Given the description of an element on the screen output the (x, y) to click on. 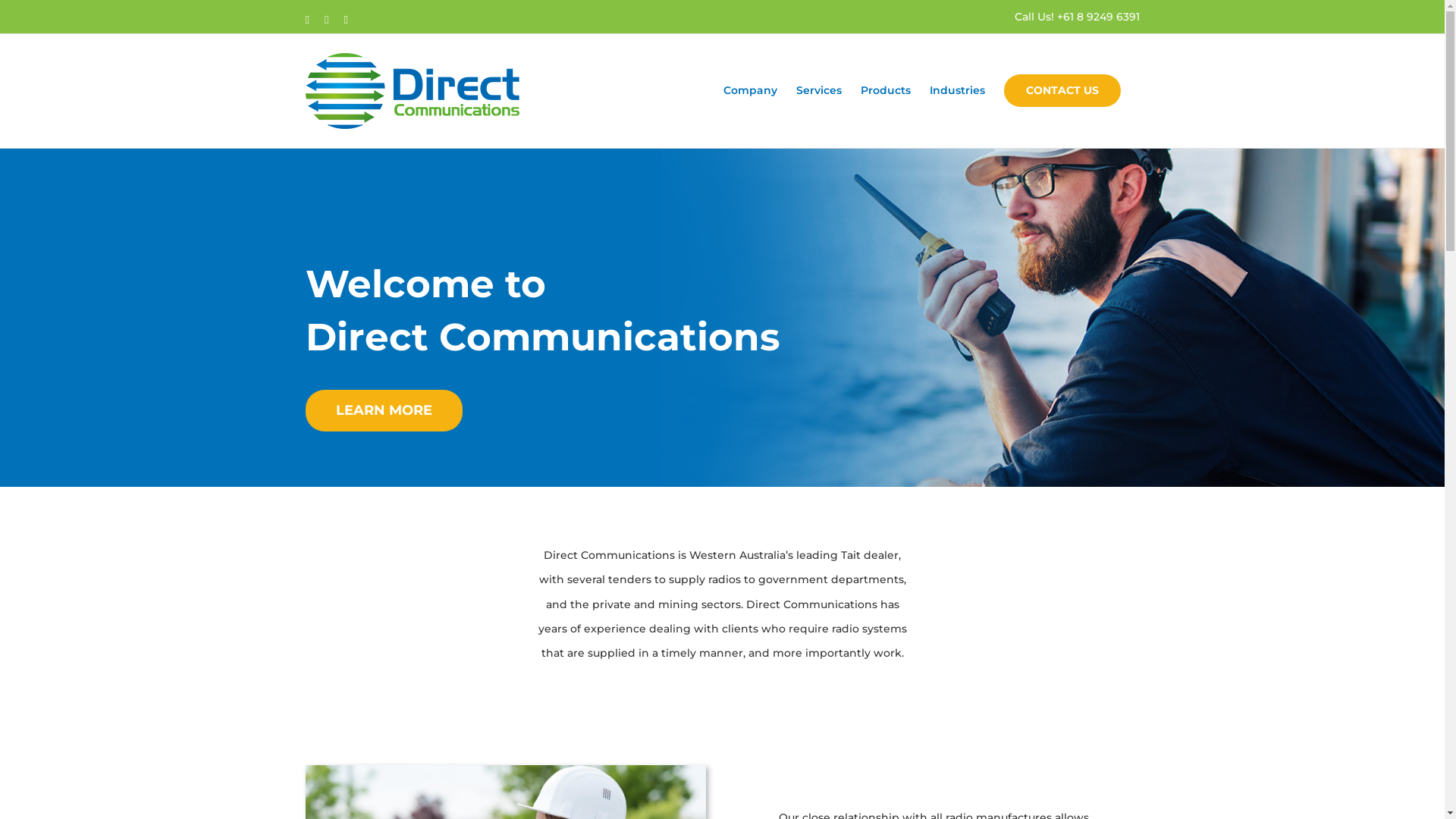
Company Element type: text (750, 89)
Twitter Element type: text (326, 19)
LEARN MORE Element type: text (382, 410)
Facebook Element type: text (306, 19)
Products Element type: text (884, 89)
Industries Element type: text (957, 89)
LinkedIn Element type: text (345, 19)
Services Element type: text (818, 89)
CONTACT US Element type: text (1062, 89)
